Given the description of an element on the screen output the (x, y) to click on. 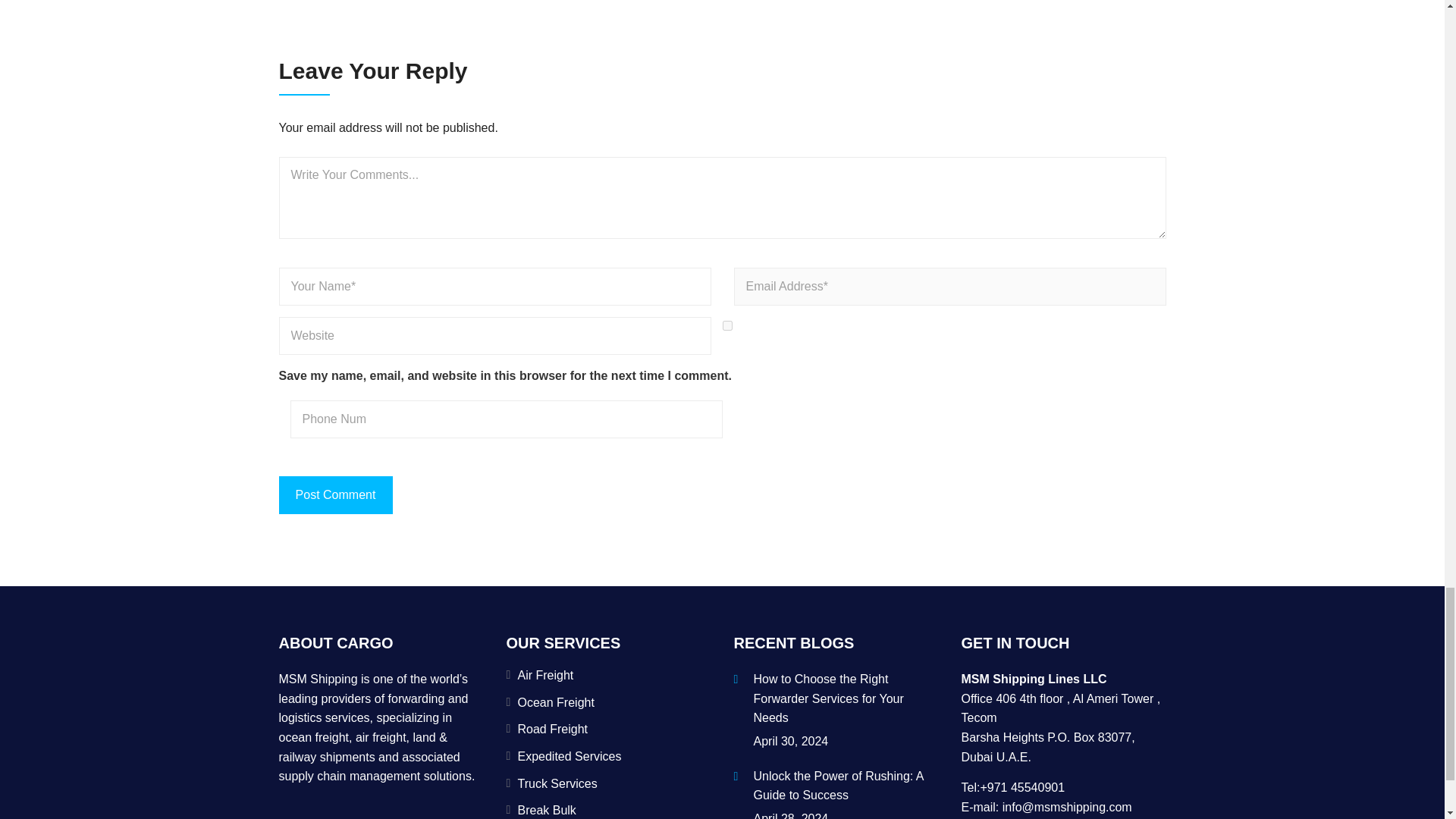
How to Choose the Right Forwarder Services for Your Needs (846, 700)
yes (727, 325)
Unlock the Power of Rushing: A Guide to Success (846, 787)
Post Comment (336, 494)
